Given the description of an element on the screen output the (x, y) to click on. 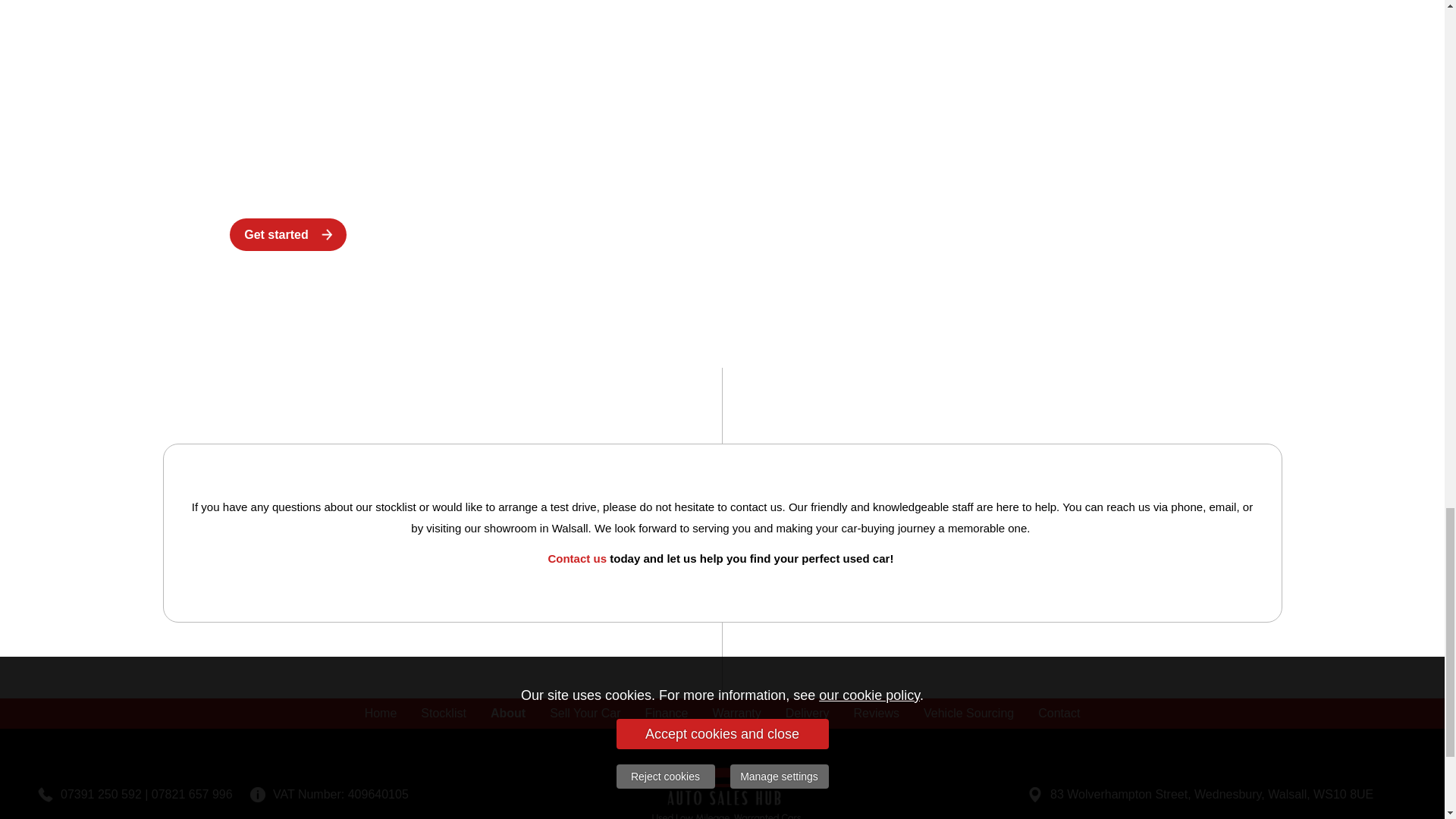
Vehicle Sourcing (968, 713)
Get started (288, 234)
Sell Your Car (584, 713)
Home (380, 713)
Delivery (807, 713)
Contact us (577, 558)
Contact (1059, 713)
Warranty (736, 713)
Reviews (876, 713)
Finance (666, 713)
Stocklist (444, 713)
